Given the description of an element on the screen output the (x, y) to click on. 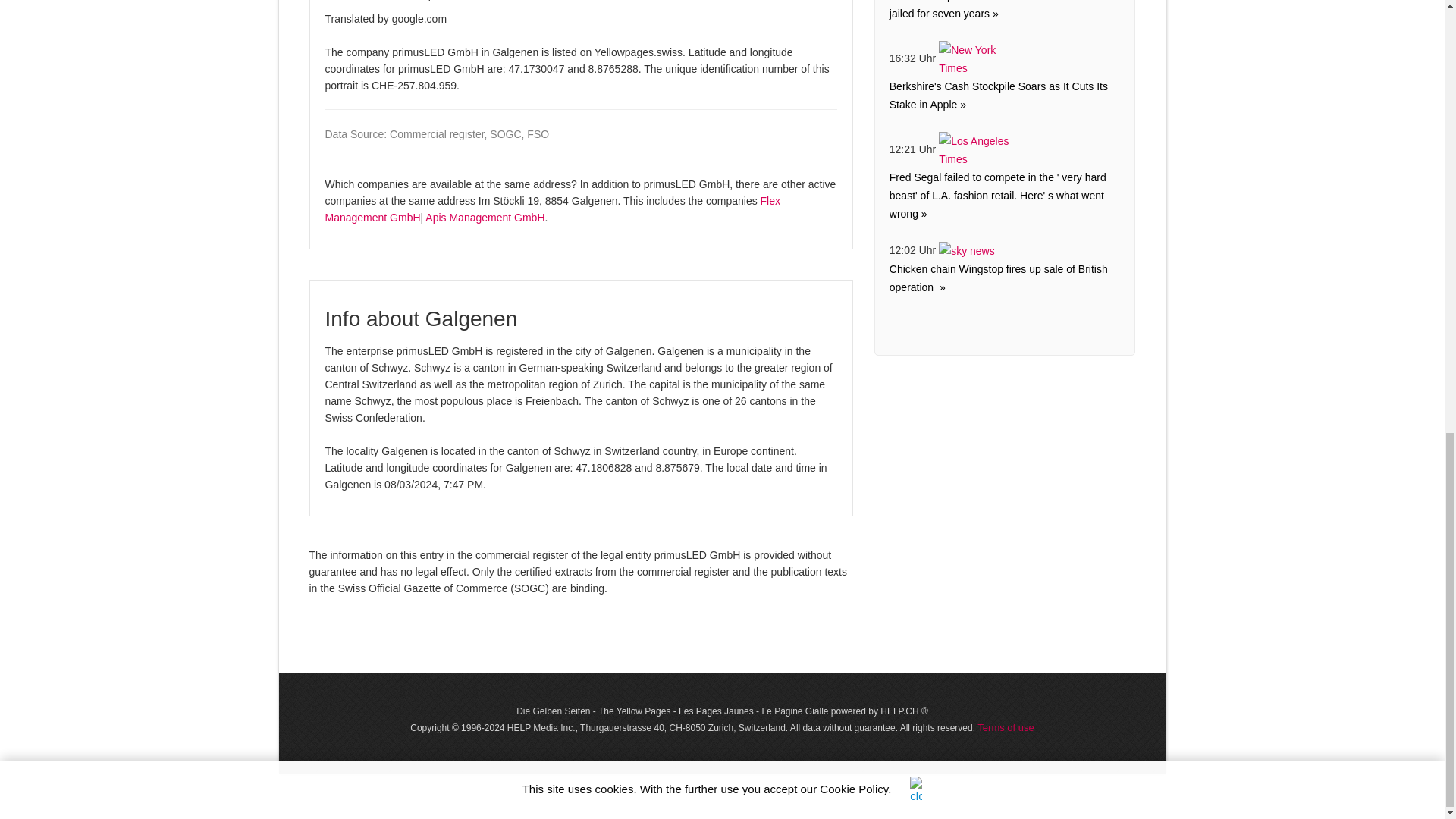
Terms of use (1004, 727)
Flex Management GmbH (552, 208)
Apis Management GmbH (484, 217)
